Given the description of an element on the screen output the (x, y) to click on. 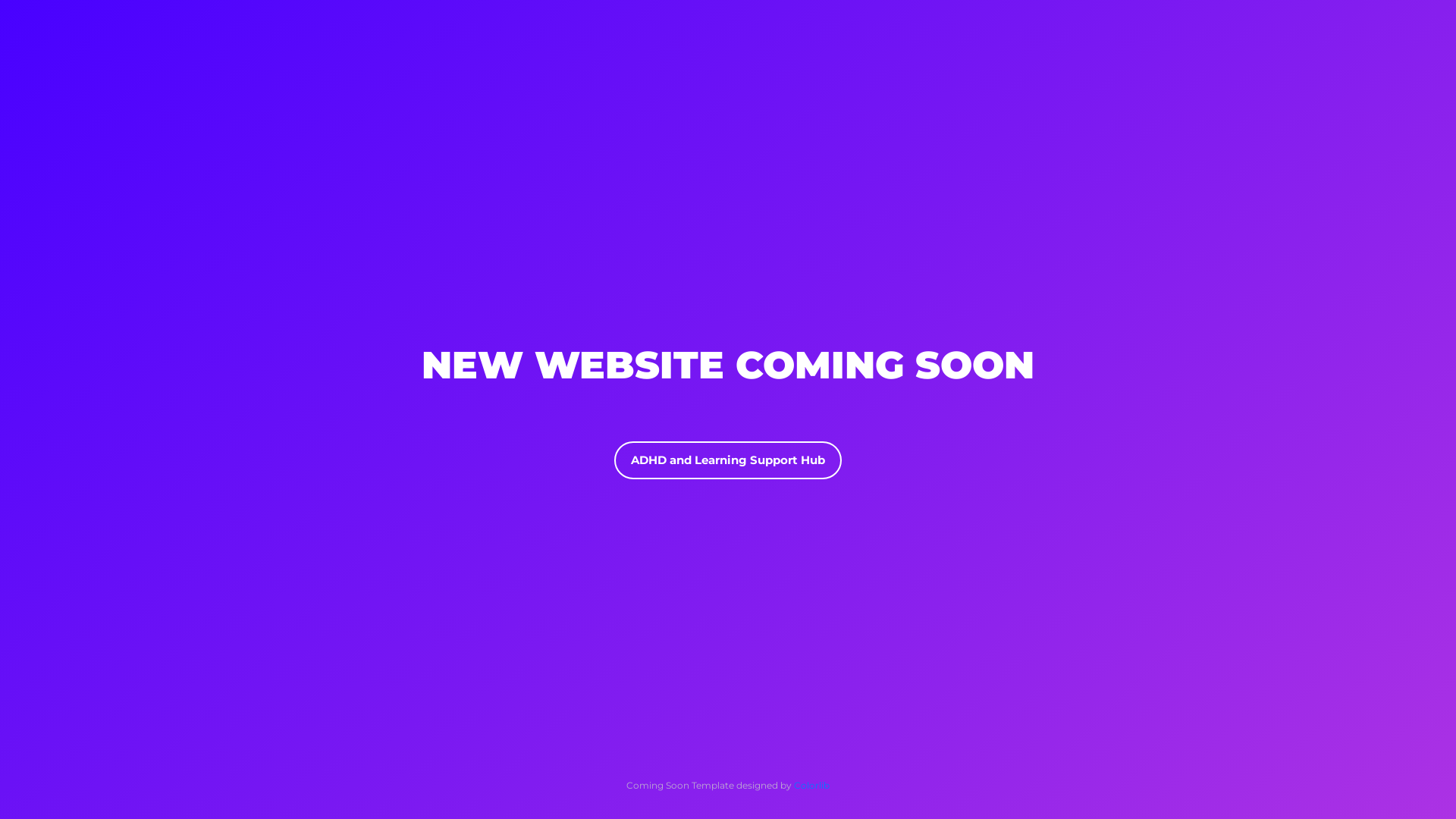
ADHD and Learning Support Hub Element type: text (727, 460)
Colorlib Element type: text (811, 784)
